Given the description of an element on the screen output the (x, y) to click on. 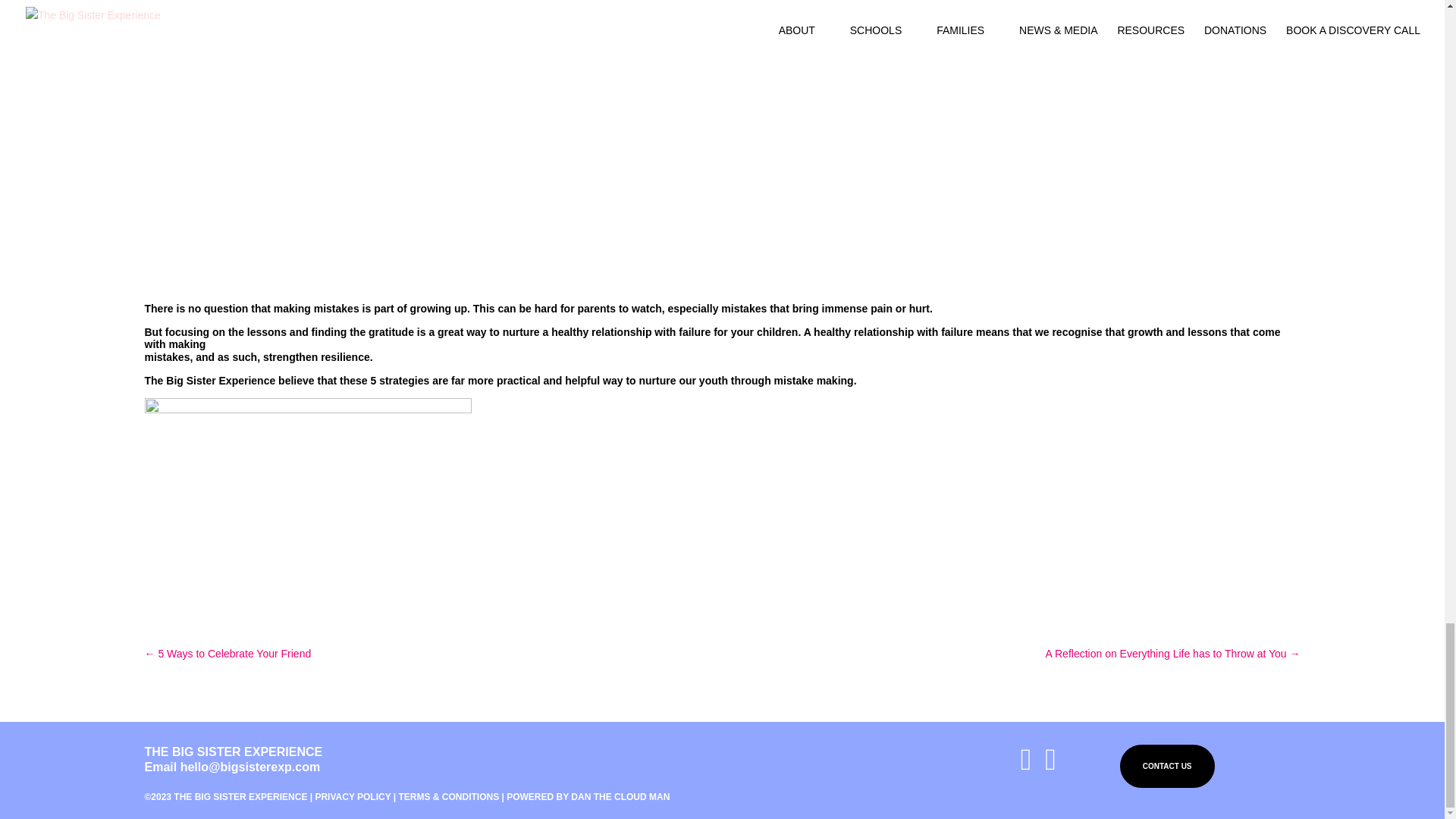
CONTACT US (1166, 765)
DAN THE CLOUD MAN (619, 796)
PRIVACY POLICY (352, 796)
